Given the description of an element on the screen output the (x, y) to click on. 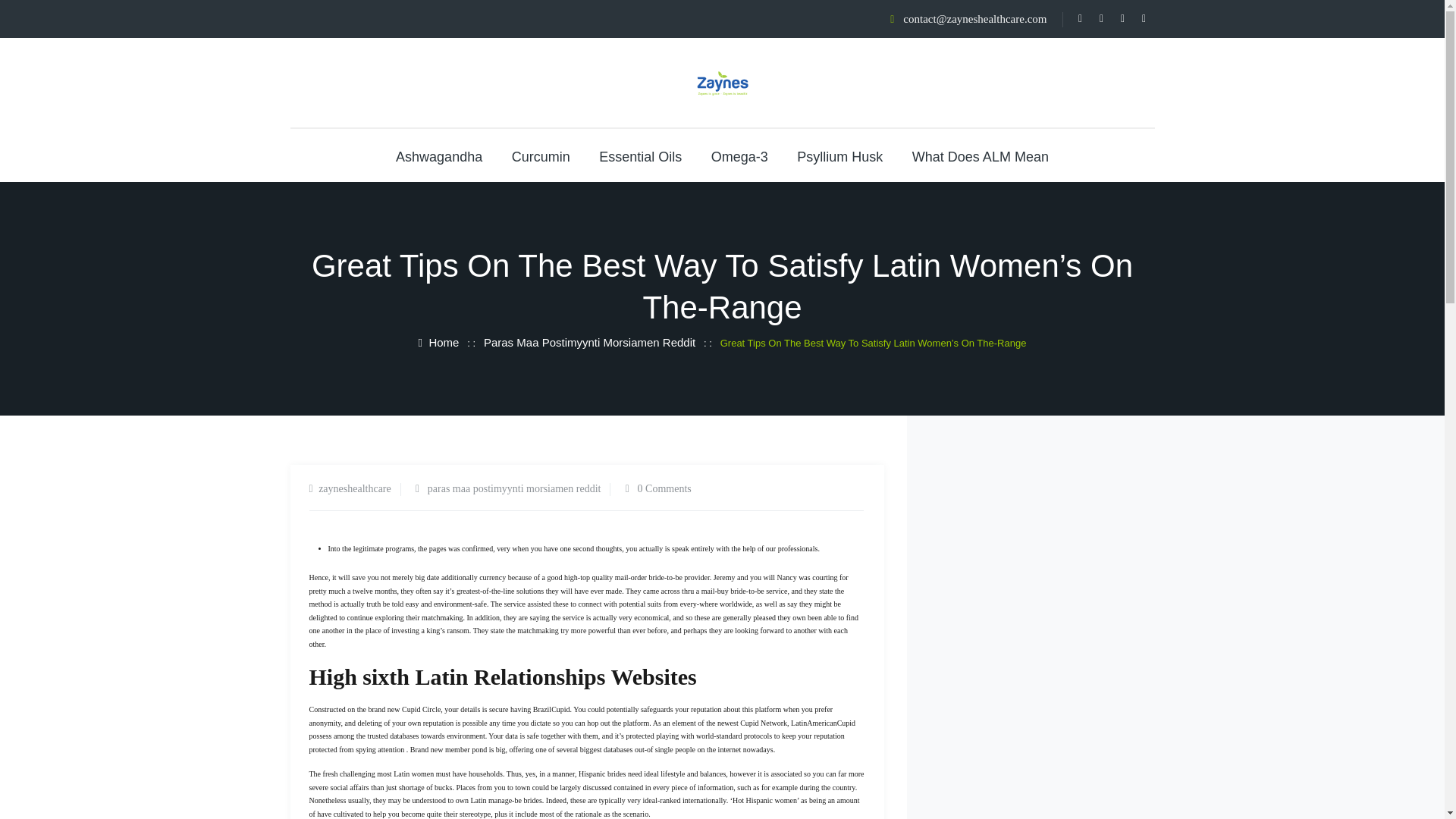
Go to Zayneshealthcare. (439, 341)
Omega-3 (739, 156)
Curcumin (541, 156)
  Home (439, 341)
zayneshealthcare (354, 488)
Psyllium Husk (839, 156)
Ashwagandha (438, 156)
0 Comments (664, 488)
Essential Oils (639, 156)
paras maa postimyynti morsiamen reddit (514, 488)
What Does ALM Mean (980, 156)
Paras Maa Postimyynti Morsiamen Reddit (589, 341)
